Given the description of an element on the screen output the (x, y) to click on. 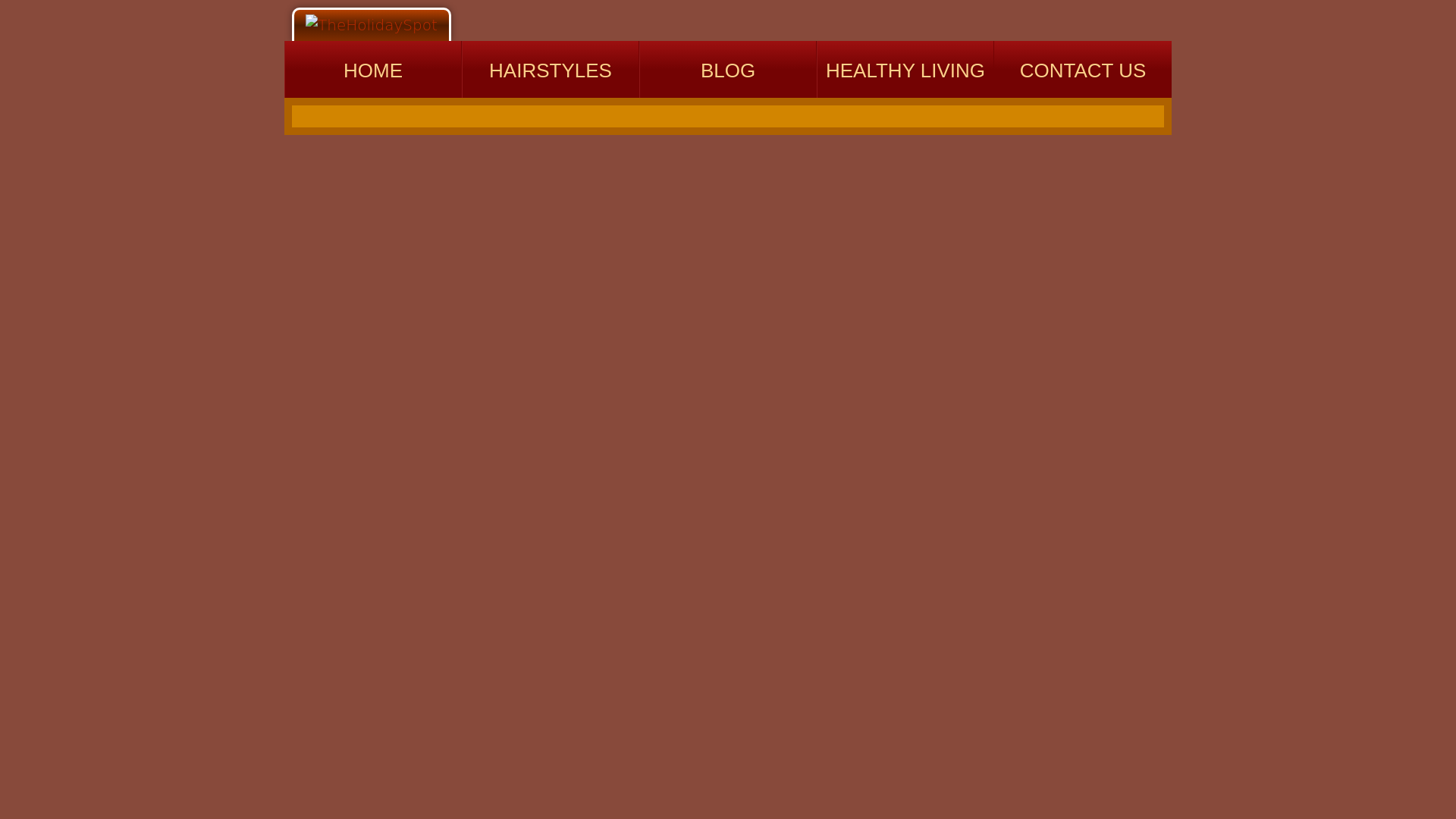
BLOG (727, 68)
HAIRSTYLES (550, 68)
HEALTHY LIVING (905, 68)
CONTACT US (1083, 68)
HOME (372, 68)
